Given the description of an element on the screen output the (x, y) to click on. 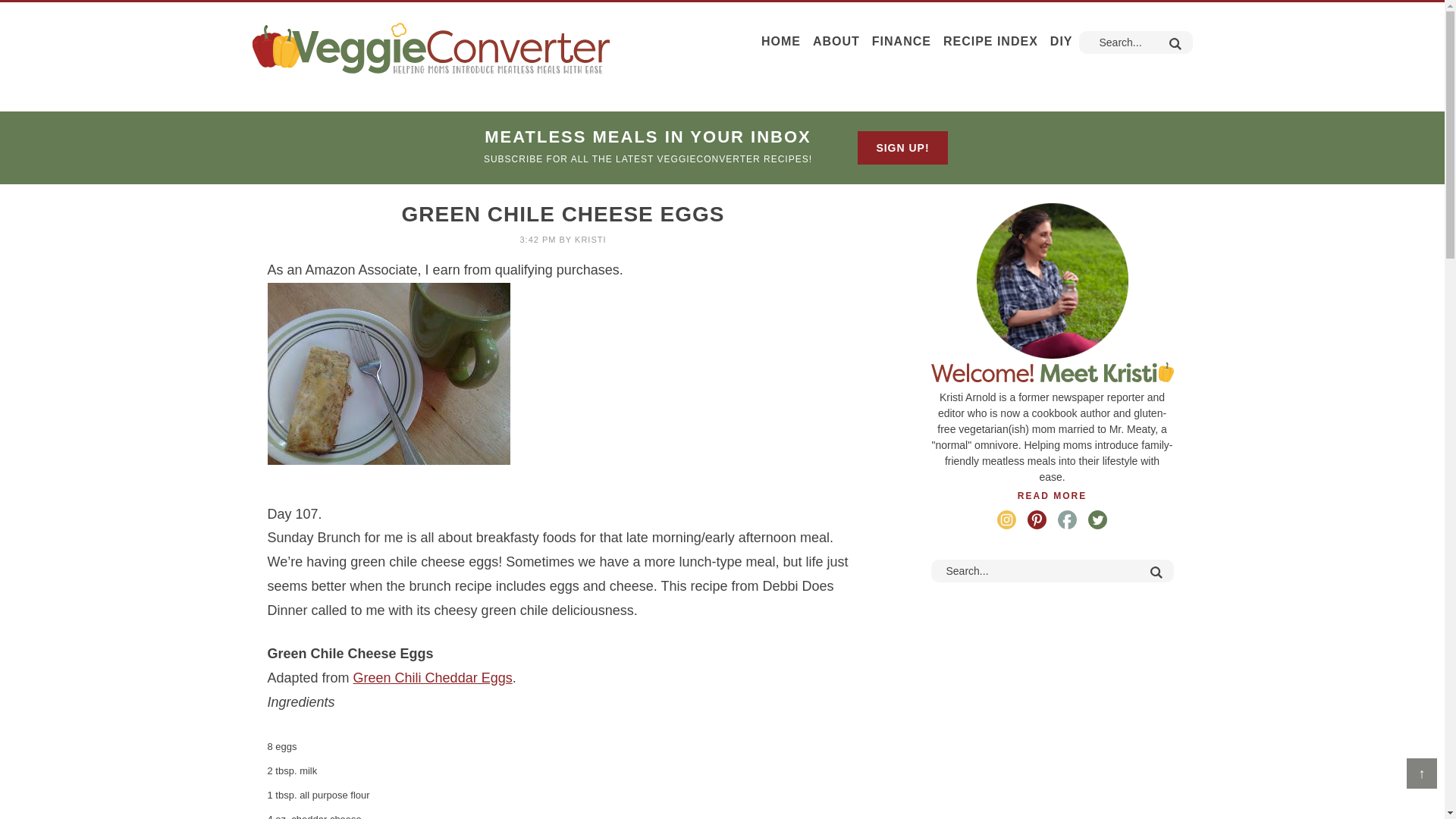
Green Chili Cheddar Eggs (432, 677)
Search (1155, 572)
Search (1173, 43)
Search (1173, 43)
KRISTI (590, 239)
Search (1173, 43)
SIGN UP! (902, 147)
ABOUT (836, 41)
HOME (780, 41)
RECIPE INDEX (990, 41)
VEGGIECONVERTER (429, 47)
FINANCE (901, 41)
DIY (1060, 41)
Search (1155, 572)
